Given the description of an element on the screen output the (x, y) to click on. 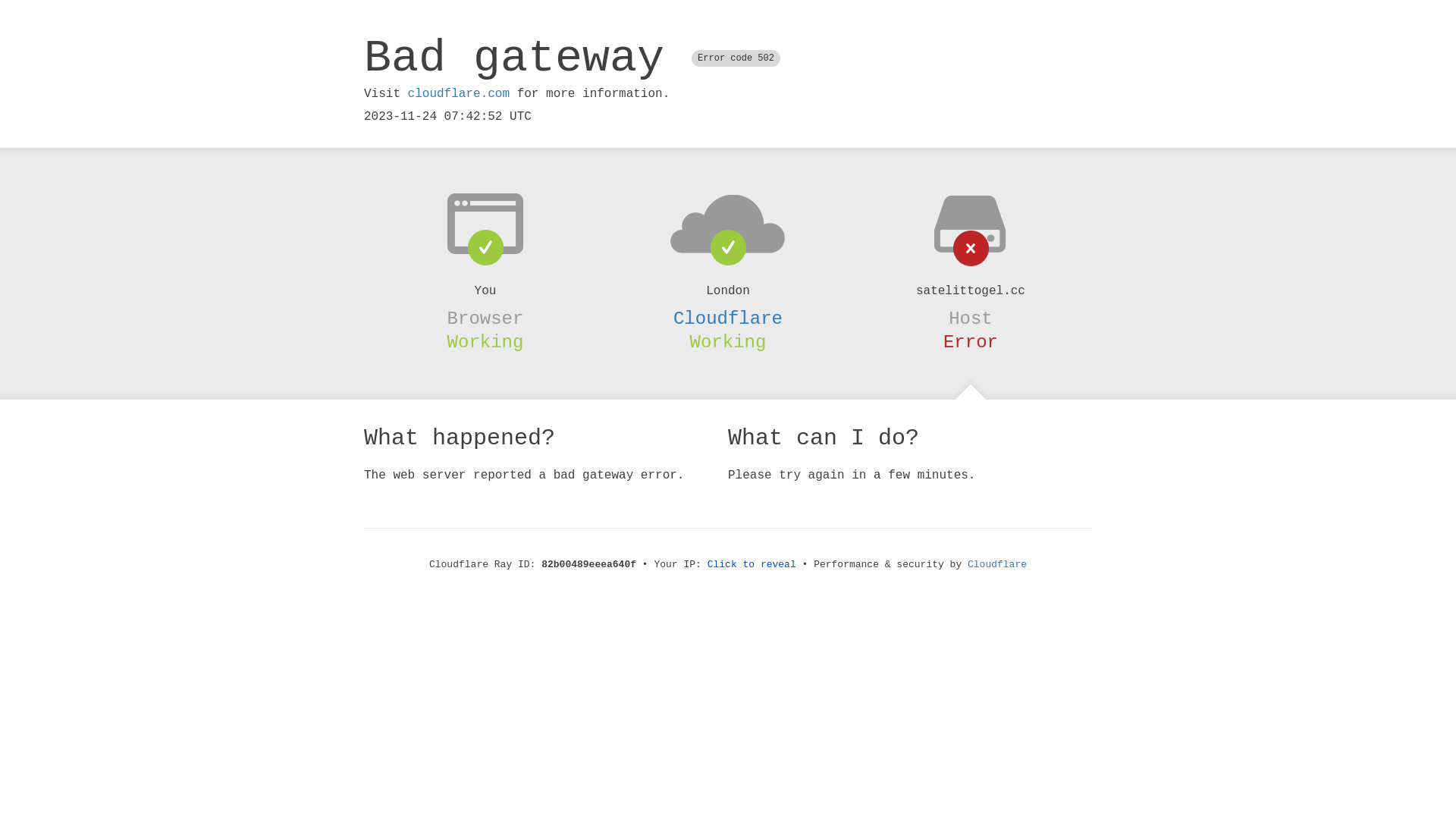
Cloudflare Element type: text (727, 318)
Cloudflare Element type: text (996, 564)
cloudflare.com Element type: text (458, 93)
Click to reveal Element type: text (751, 564)
